Given the description of an element on the screen output the (x, y) to click on. 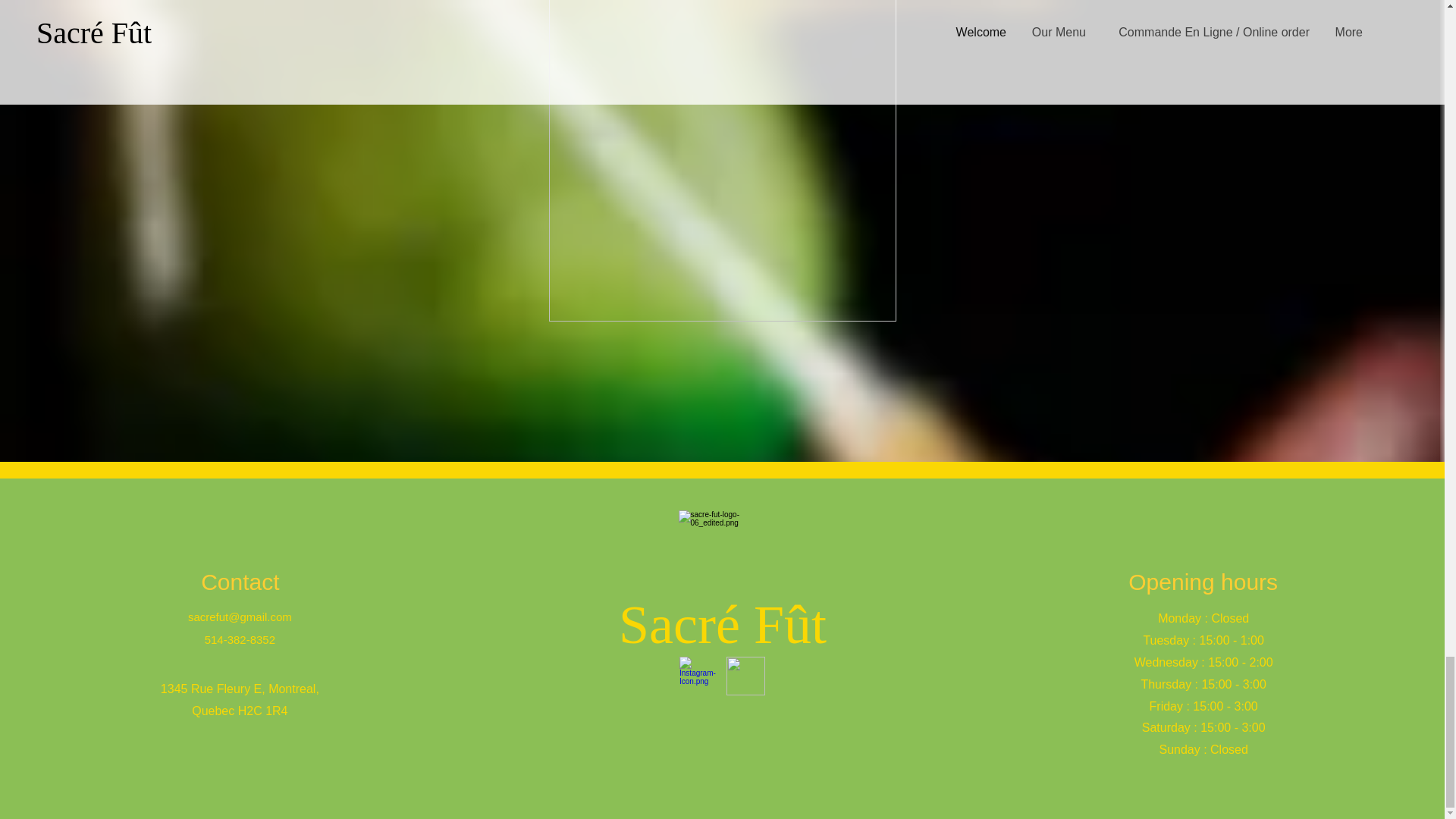
fb icon.png (745, 675)
sacre-fut-logo-06.png (722, 552)
aperitif valla.jpg (722, 160)
